Given the description of an element on the screen output the (x, y) to click on. 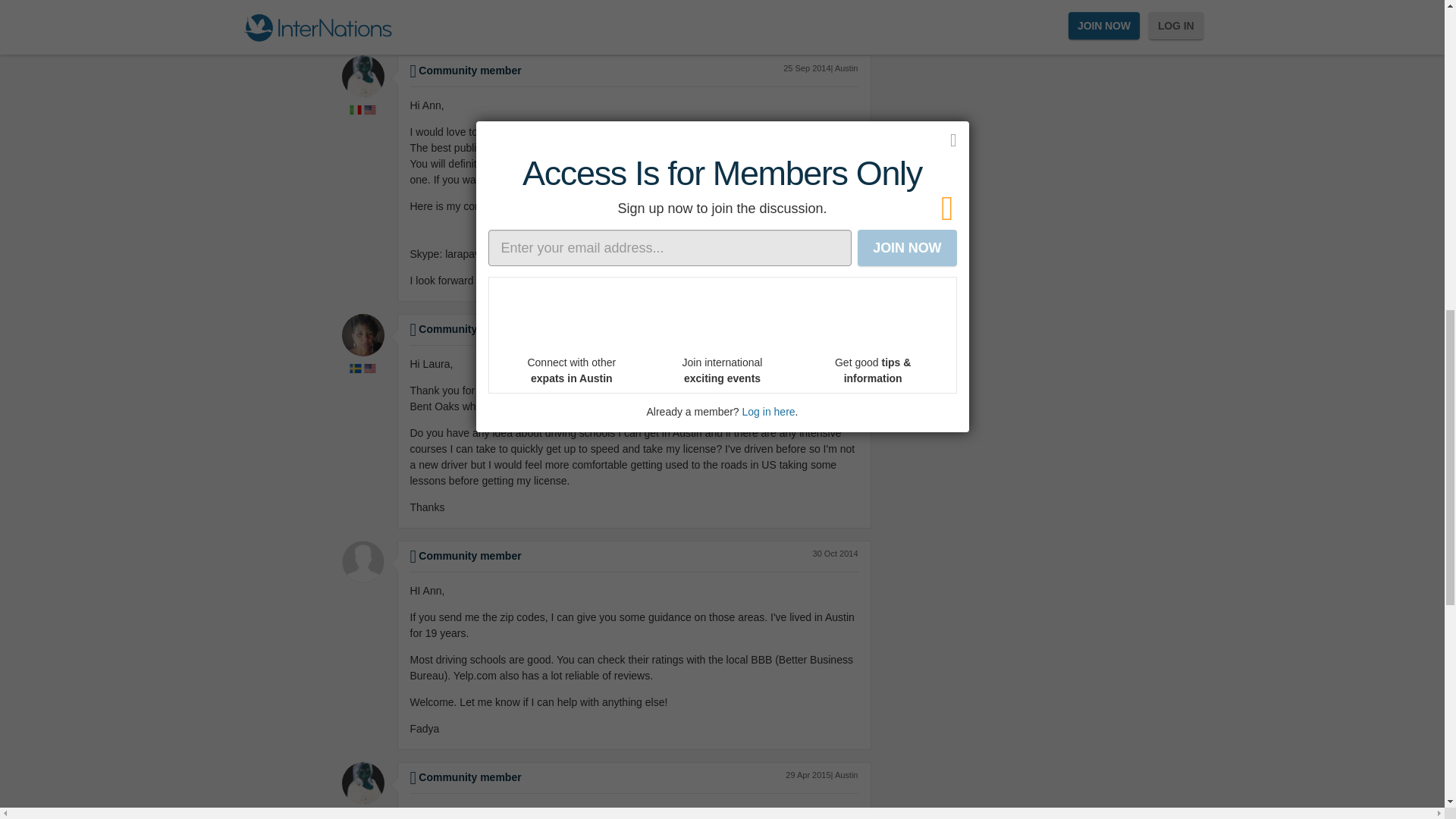
Living in United States of America (369, 110)
Living in United States of America (369, 368)
From Italy (355, 110)
Living in United States of America (369, 814)
Community member (465, 555)
From Sweden (355, 368)
Community member (465, 776)
Community member (465, 328)
Community member (465, 70)
From Italy (355, 814)
